Given the description of an element on the screen output the (x, y) to click on. 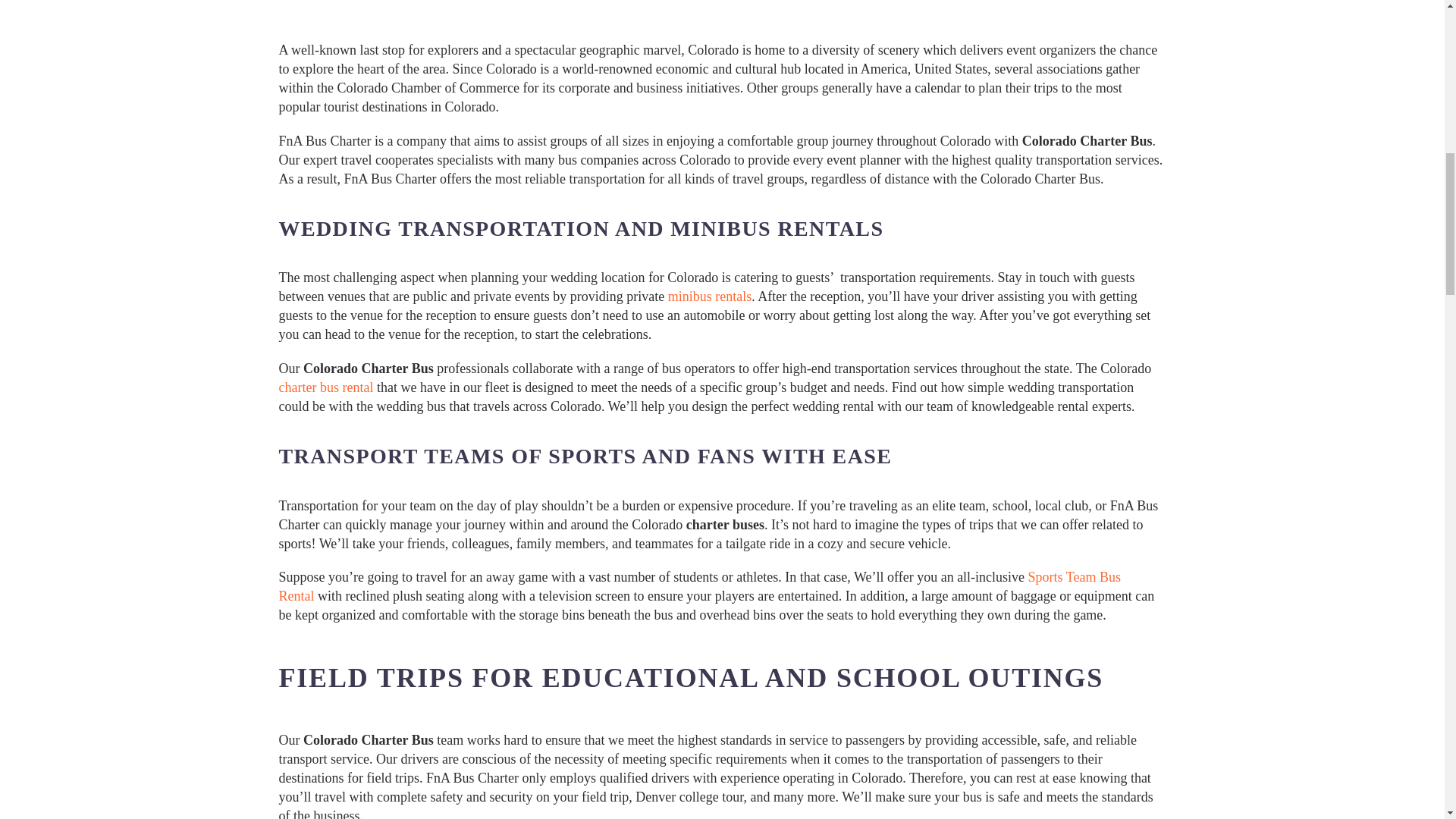
Sports Team Bus Rental (700, 586)
minibus rentals (710, 296)
charter bus rental (328, 387)
